Given the description of an element on the screen output the (x, y) to click on. 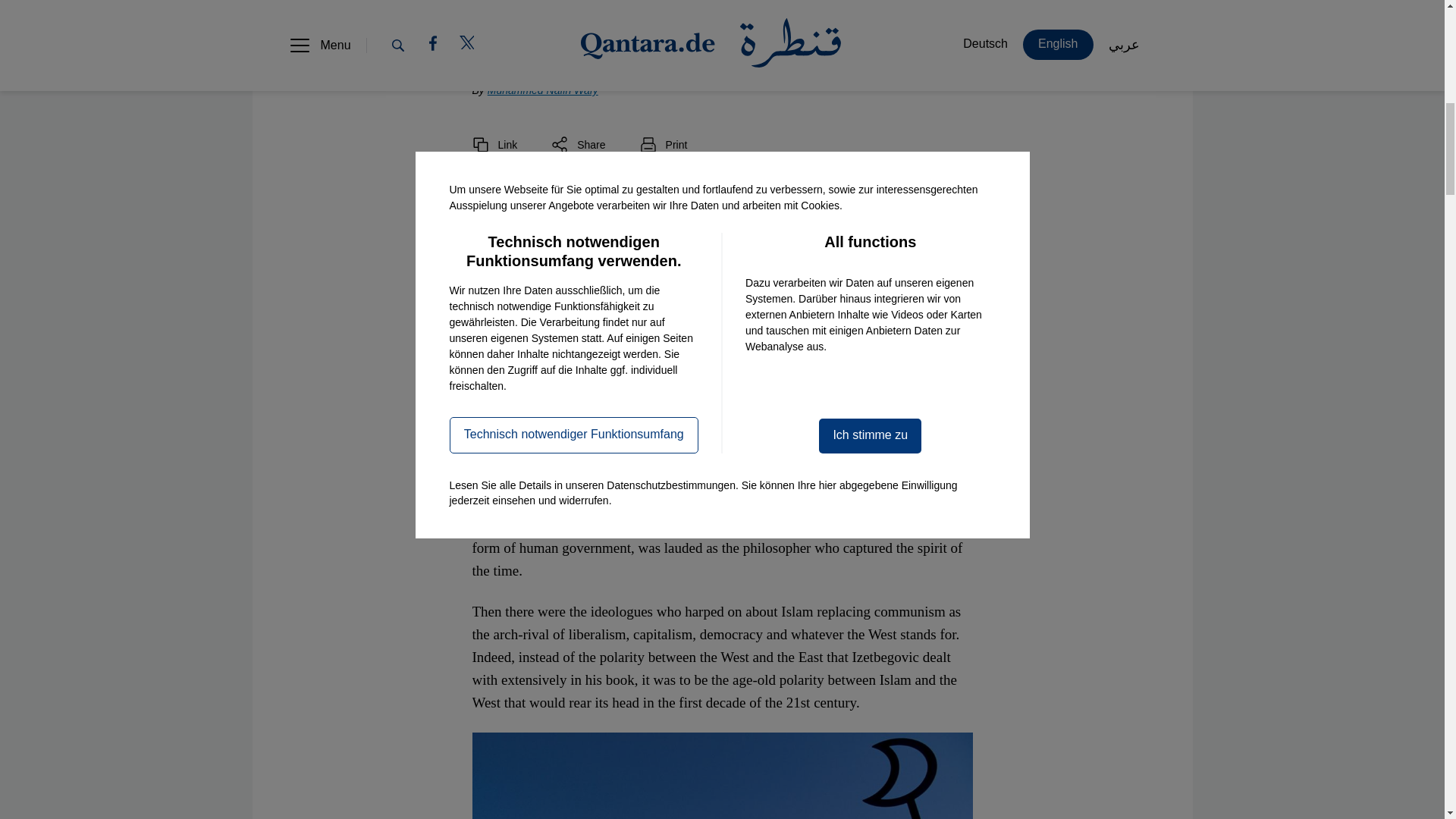
"Islam between East and West" (679, 192)
Print (663, 144)
Share (578, 144)
Link (493, 144)
Francis Fukuyama (708, 479)
Muhammed Nafih Wafy (542, 90)
Copy link of content (493, 144)
